Given the description of an element on the screen output the (x, y) to click on. 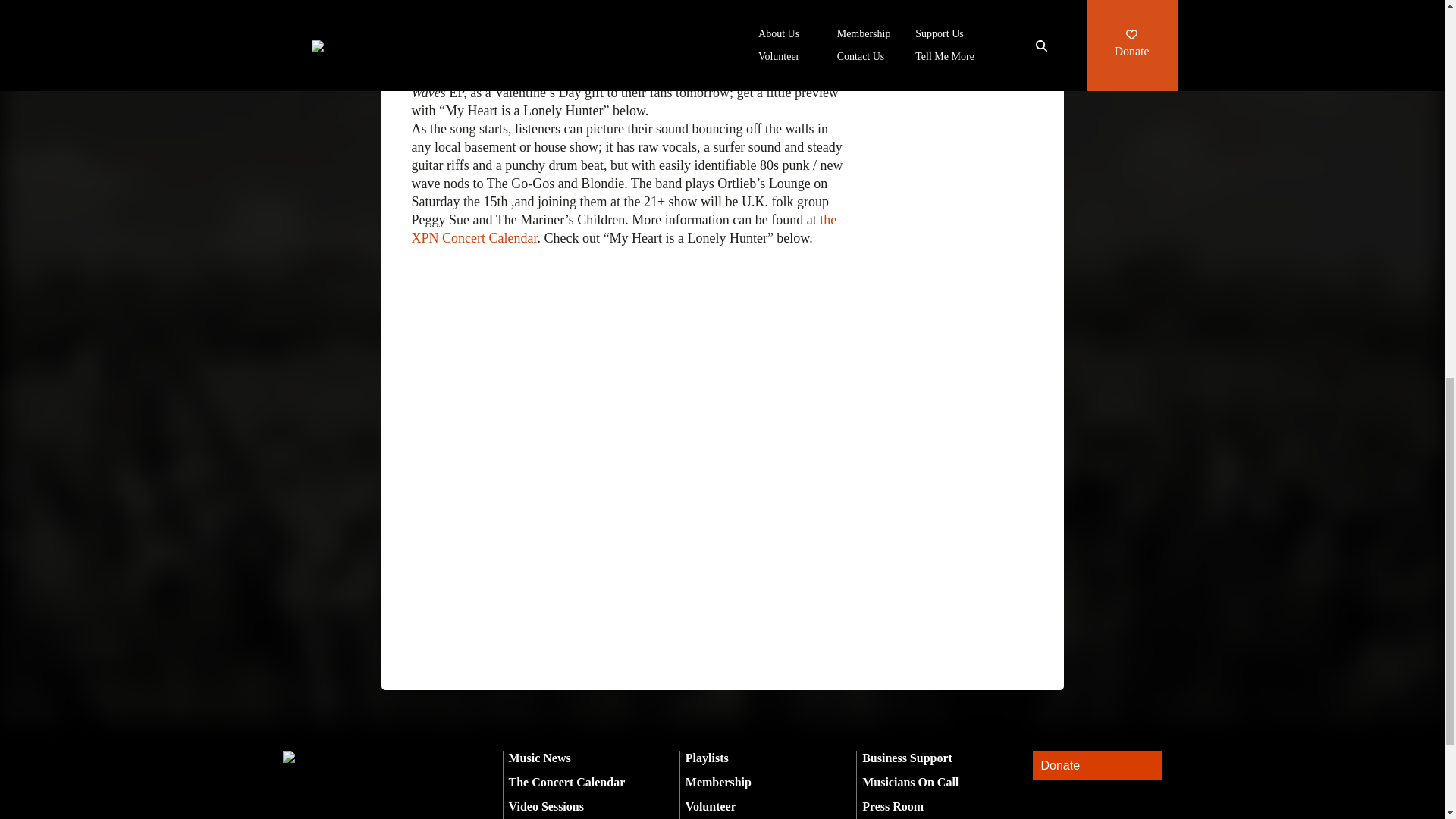
Membership (718, 781)
Donate (1096, 765)
Video Sessions (545, 806)
Music News (539, 757)
The Concert Calendar (566, 781)
Business Support (906, 757)
The Pretty Greens (630, 37)
Volunteer (710, 806)
Press Room (892, 806)
Playlists (707, 757)
